Given the description of an element on the screen output the (x, y) to click on. 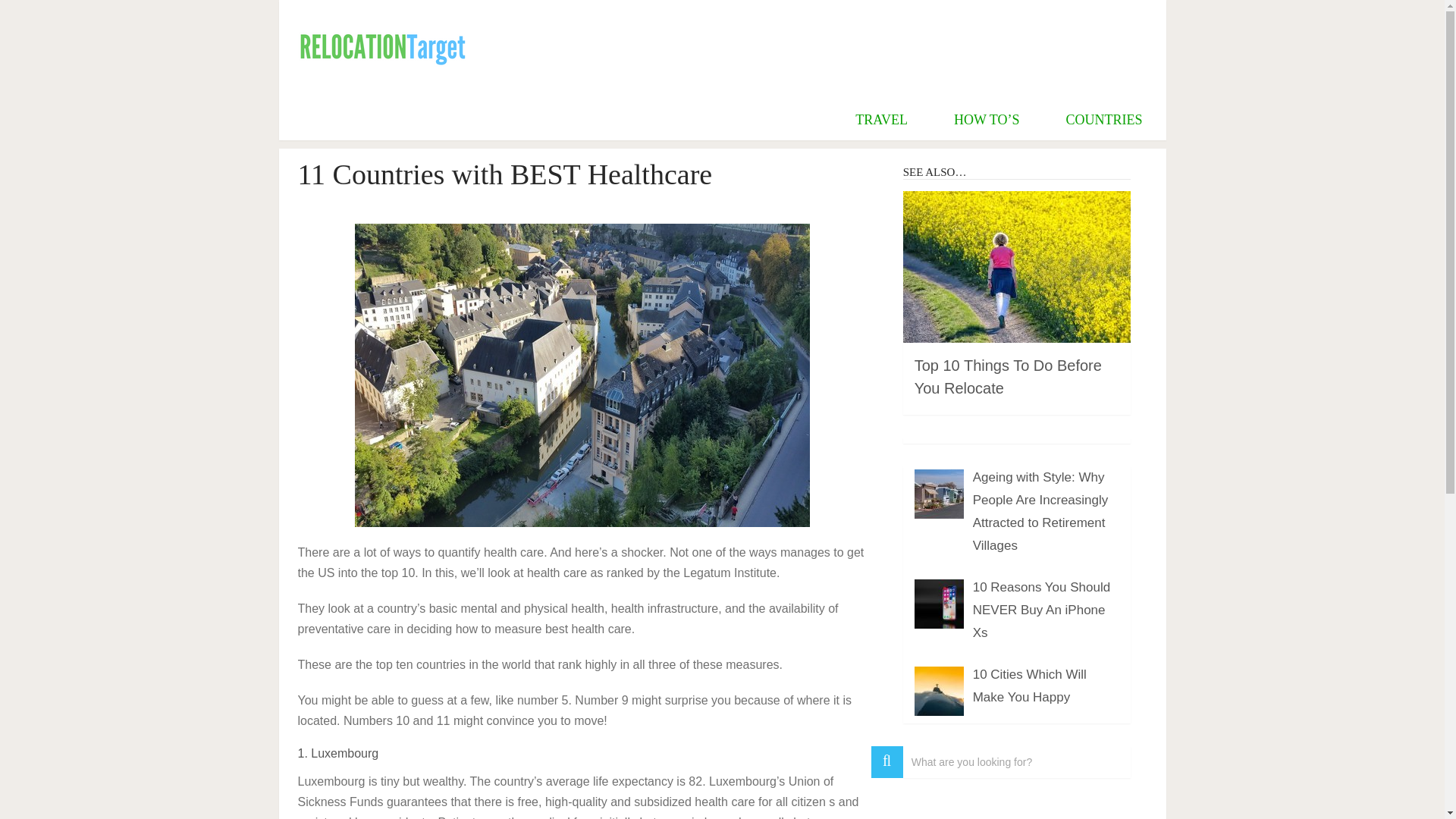
10 Cities Which Will Make You Happy (1029, 685)
10 Reasons You Should NEVER Buy An iPhone Xs (1041, 609)
Top 10 Things To Do Before You Relocate (1008, 376)
COUNTRIES (1103, 119)
10 Reasons You Should NEVER Buy An iPhone Xs (1041, 609)
Top 10 Things To Do Before You Relocate (1008, 376)
TRAVEL (881, 119)
10 Cities Which Will Make You Happy (1029, 685)
